Given the description of an element on the screen output the (x, y) to click on. 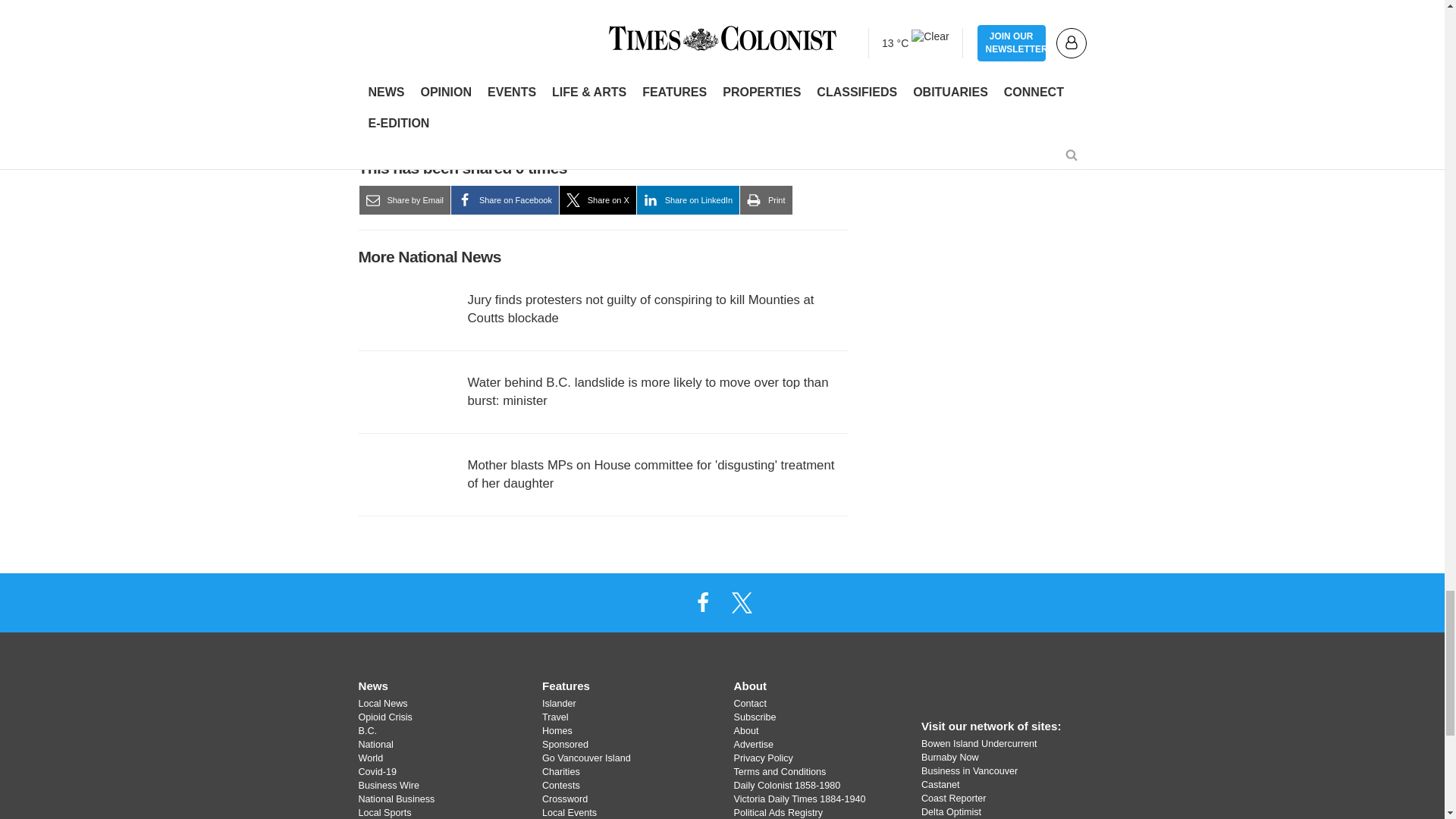
Facebook (702, 602)
X (741, 602)
